Given the description of an element on the screen output the (x, y) to click on. 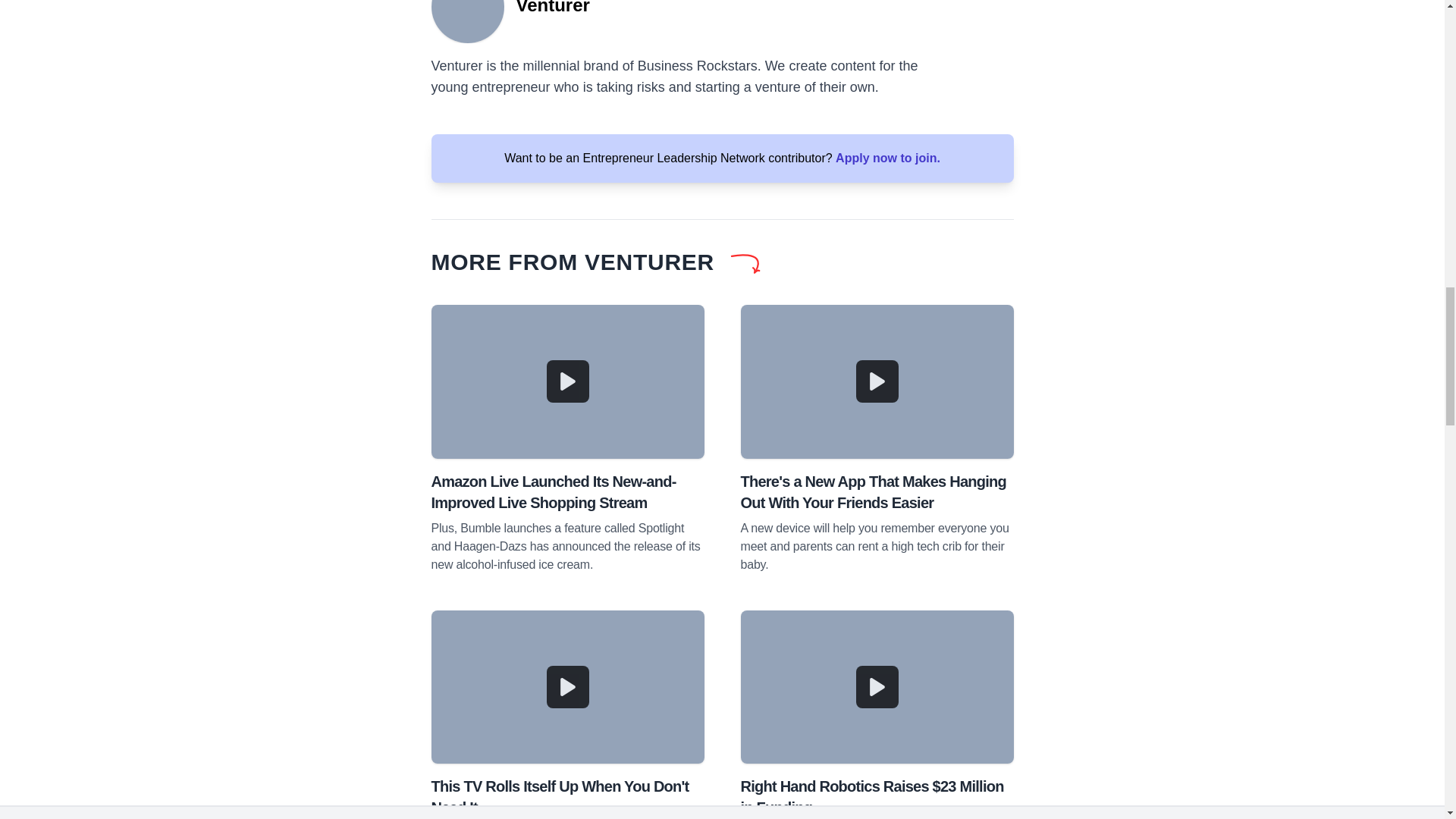
Venturer (466, 21)
